Given the description of an element on the screen output the (x, y) to click on. 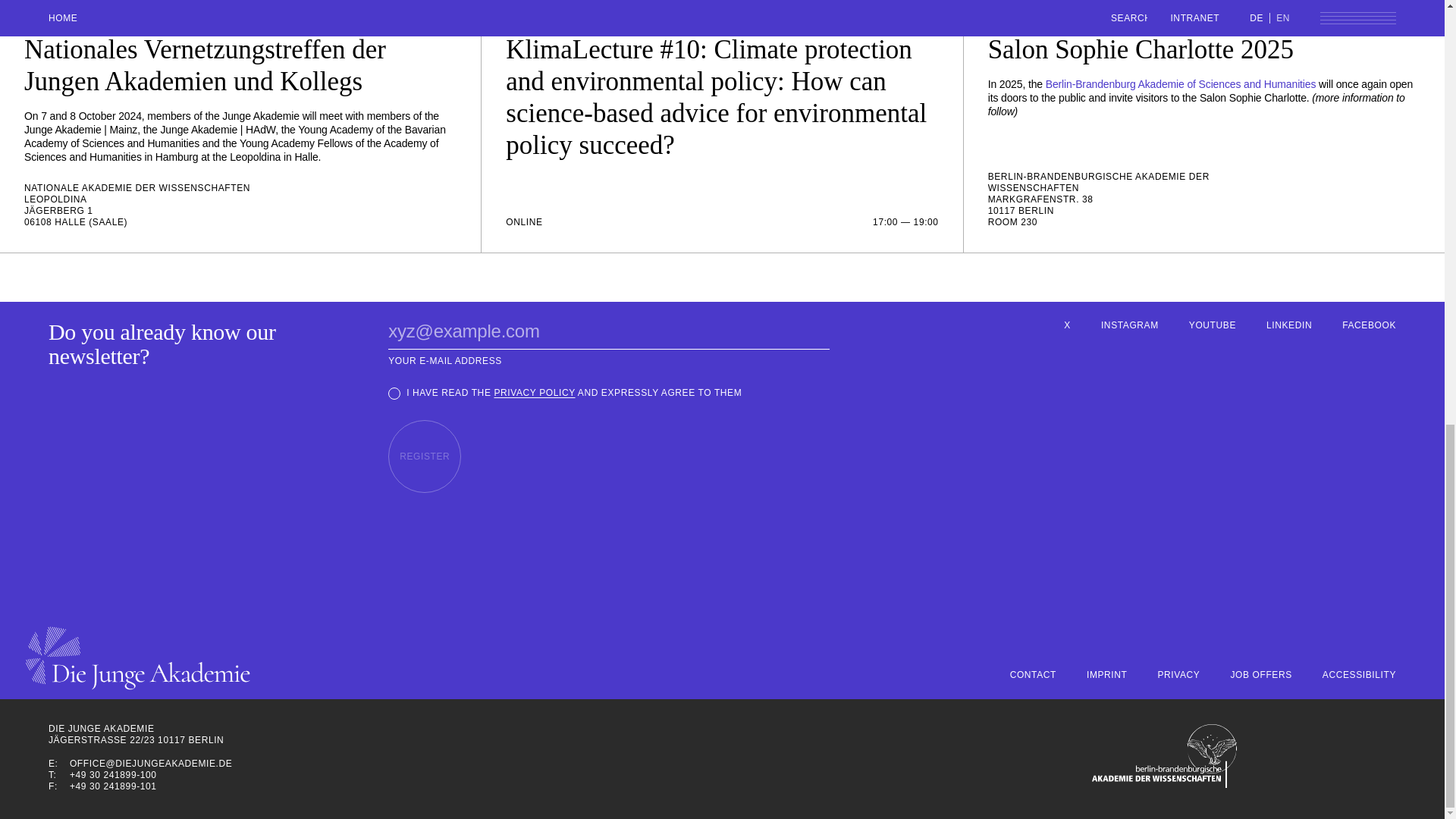
Phone (57, 775)
E-mail (57, 763)
Fax (57, 786)
